Given the description of an element on the screen output the (x, y) to click on. 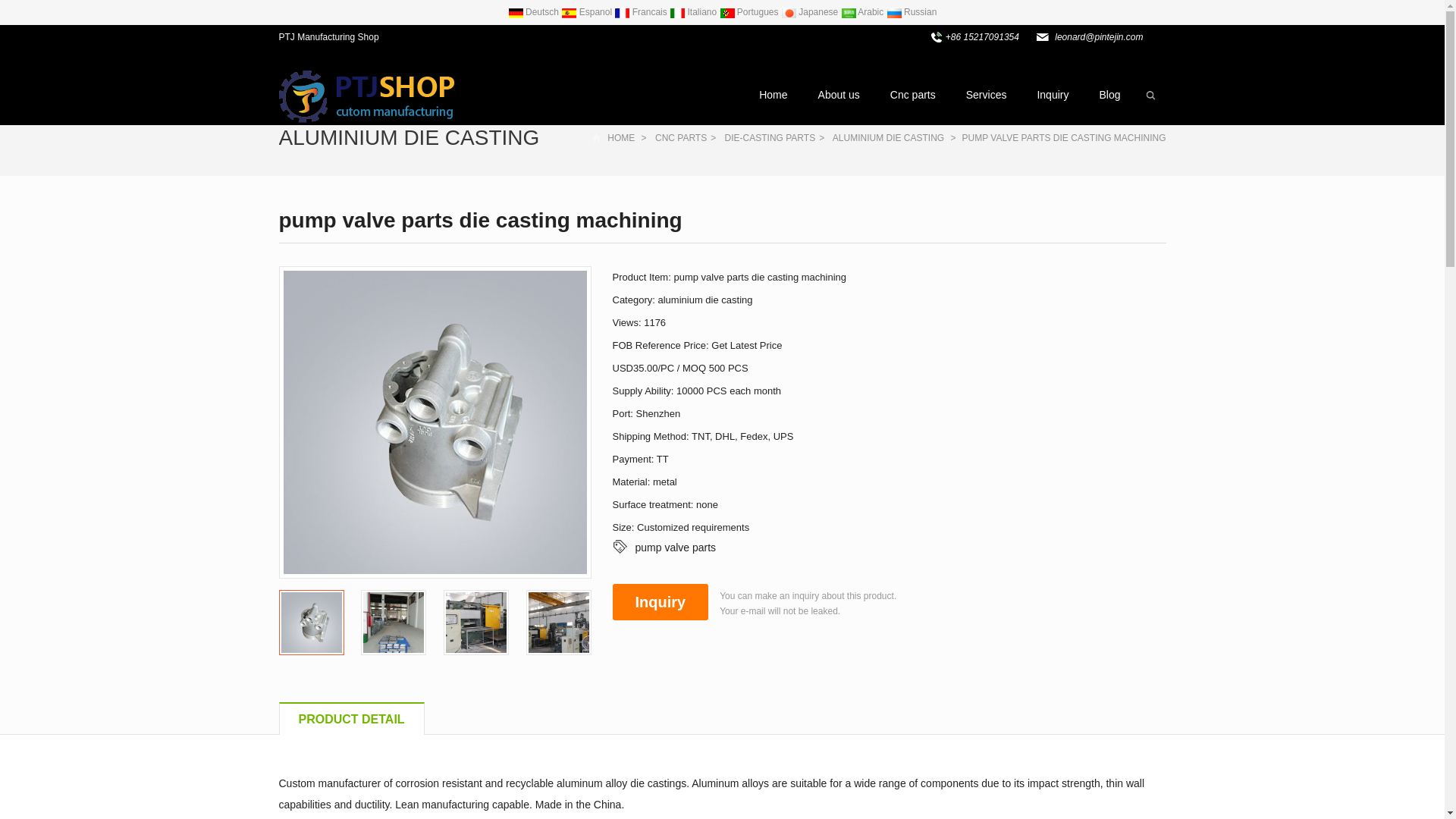
Deutsch (535, 11)
Russian (911, 11)
Italiano (694, 11)
pump valve parts die casting machining (393, 622)
Cnc parts (680, 137)
Espanol (587, 11)
pump valve parts die casting machining (558, 622)
Die-casting parts (770, 137)
PTJ Manufacturing Shop (361, 95)
Japanese (810, 11)
Portugues (749, 11)
Cnc parts (912, 94)
About us (839, 94)
aluminium die casting (887, 137)
Francais (641, 11)
